Given the description of an element on the screen output the (x, y) to click on. 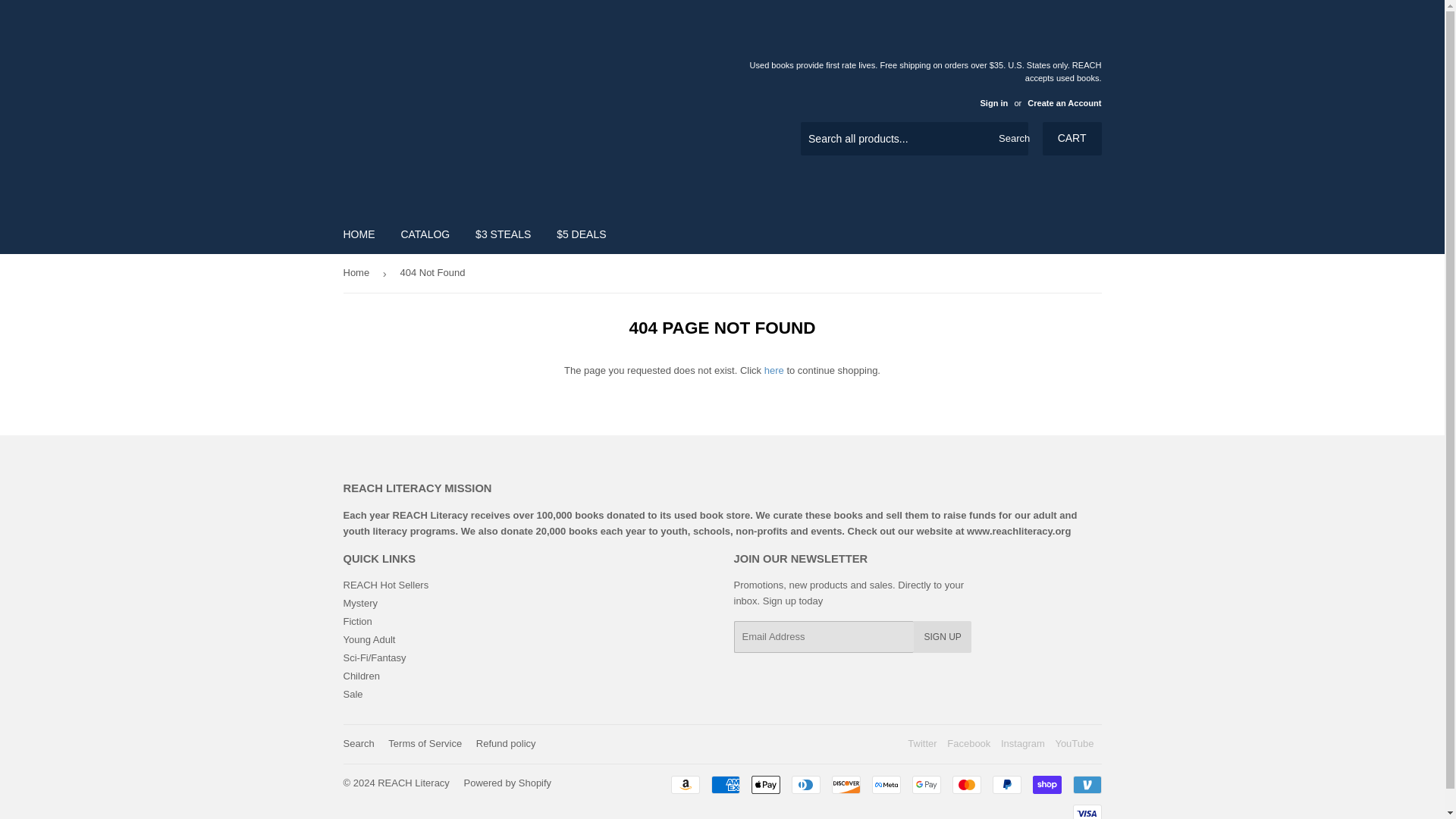
Young Adult (368, 639)
Twitter (921, 743)
REACH Literacy (413, 782)
Sale (352, 694)
CART (1072, 138)
Mystery (359, 603)
Google Pay (925, 784)
HOME (359, 233)
PayPal (1005, 784)
Mastercard (966, 784)
